Given the description of an element on the screen output the (x, y) to click on. 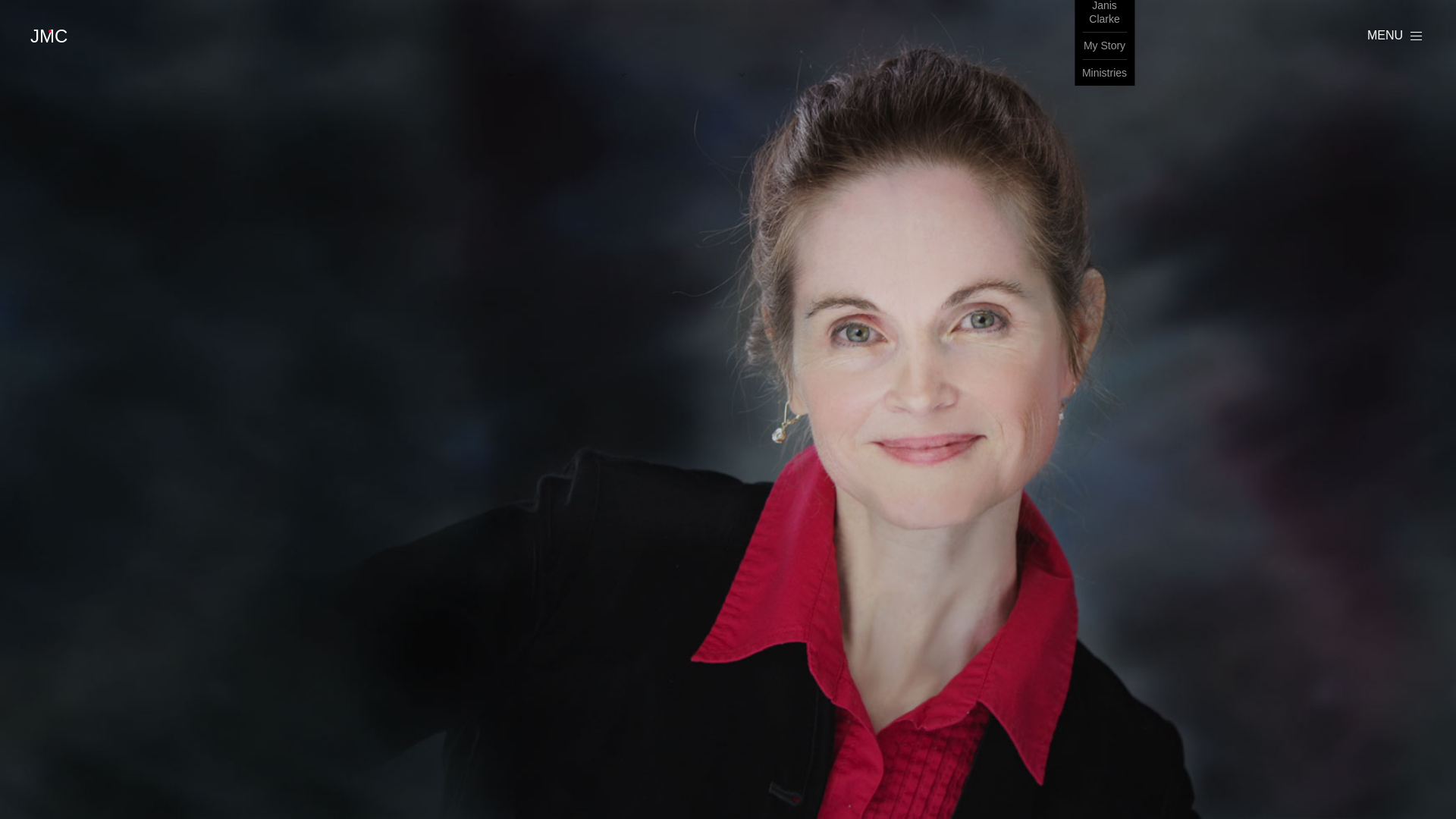
Ministries (1103, 72)
Janis Clarke (1103, 16)
JMC (50, 35)
My Story (1103, 45)
